Given the description of an element on the screen output the (x, y) to click on. 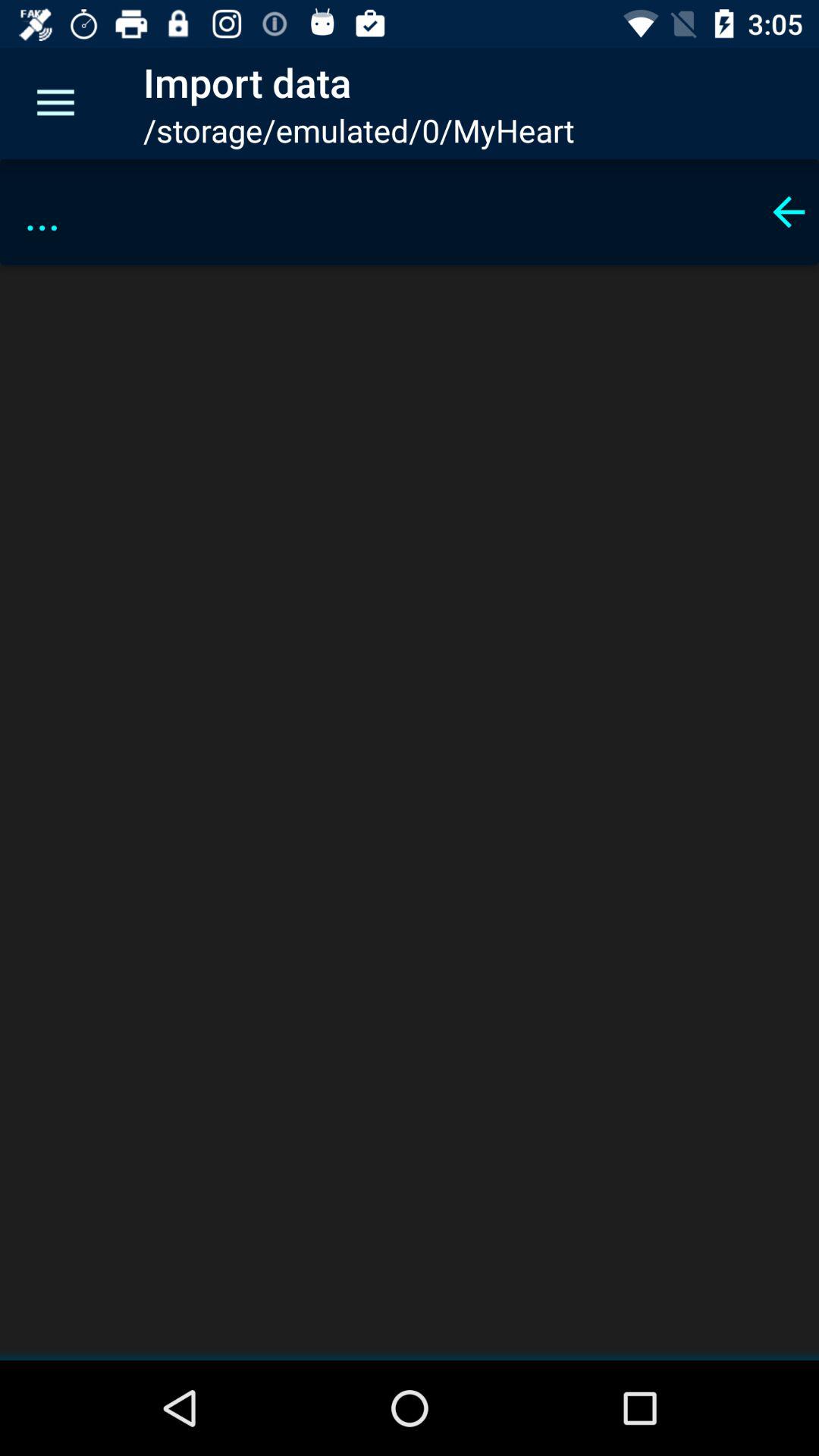
turn on the item to the right of the ... icon (788, 212)
